Given the description of an element on the screen output the (x, y) to click on. 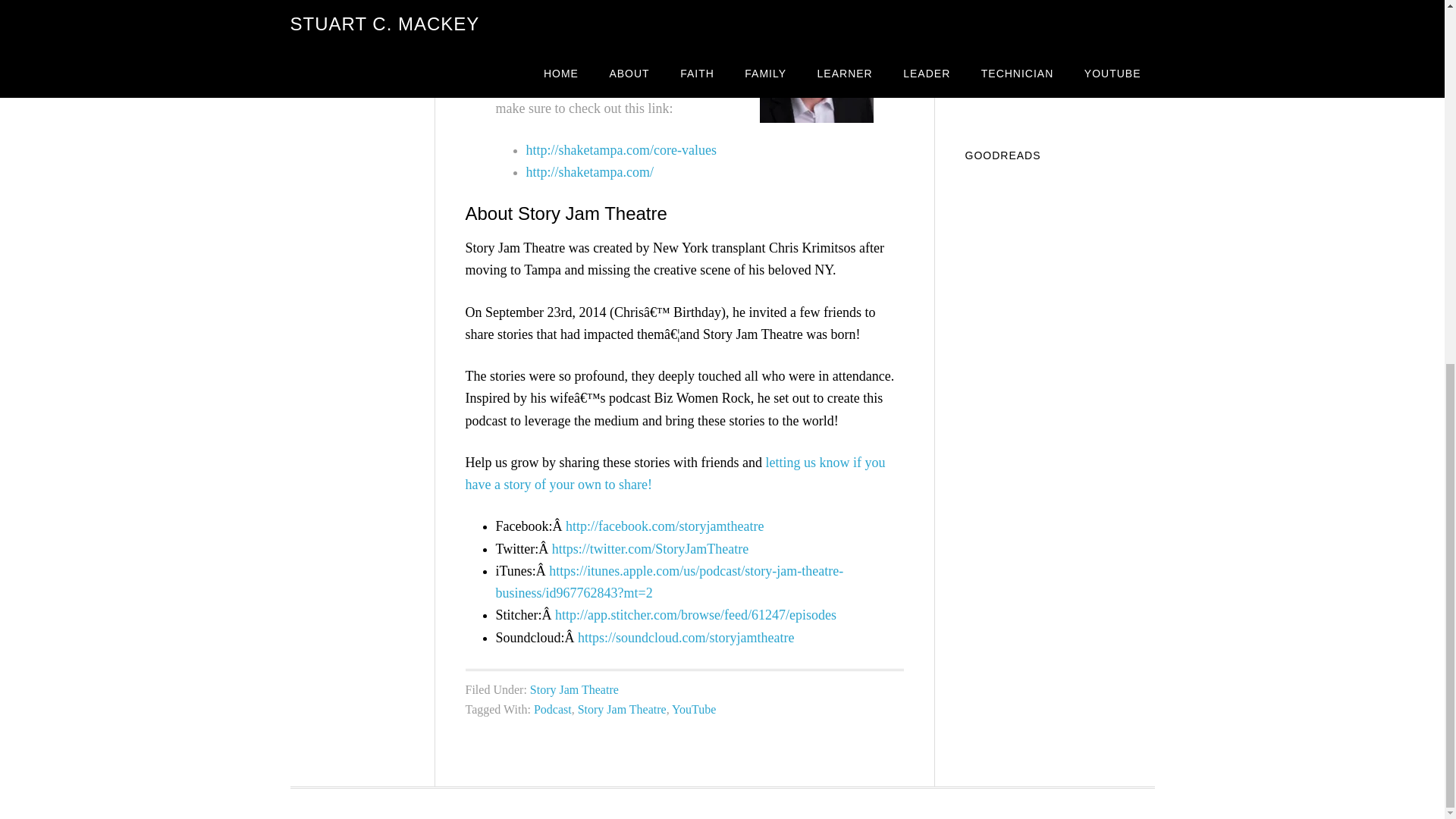
Podcast (553, 708)
Story Jam Theatre (573, 689)
letting us know if you have a story of your own to share! (675, 473)
YouTube (693, 708)
Story Jam Theatre (622, 708)
